Given the description of an element on the screen output the (x, y) to click on. 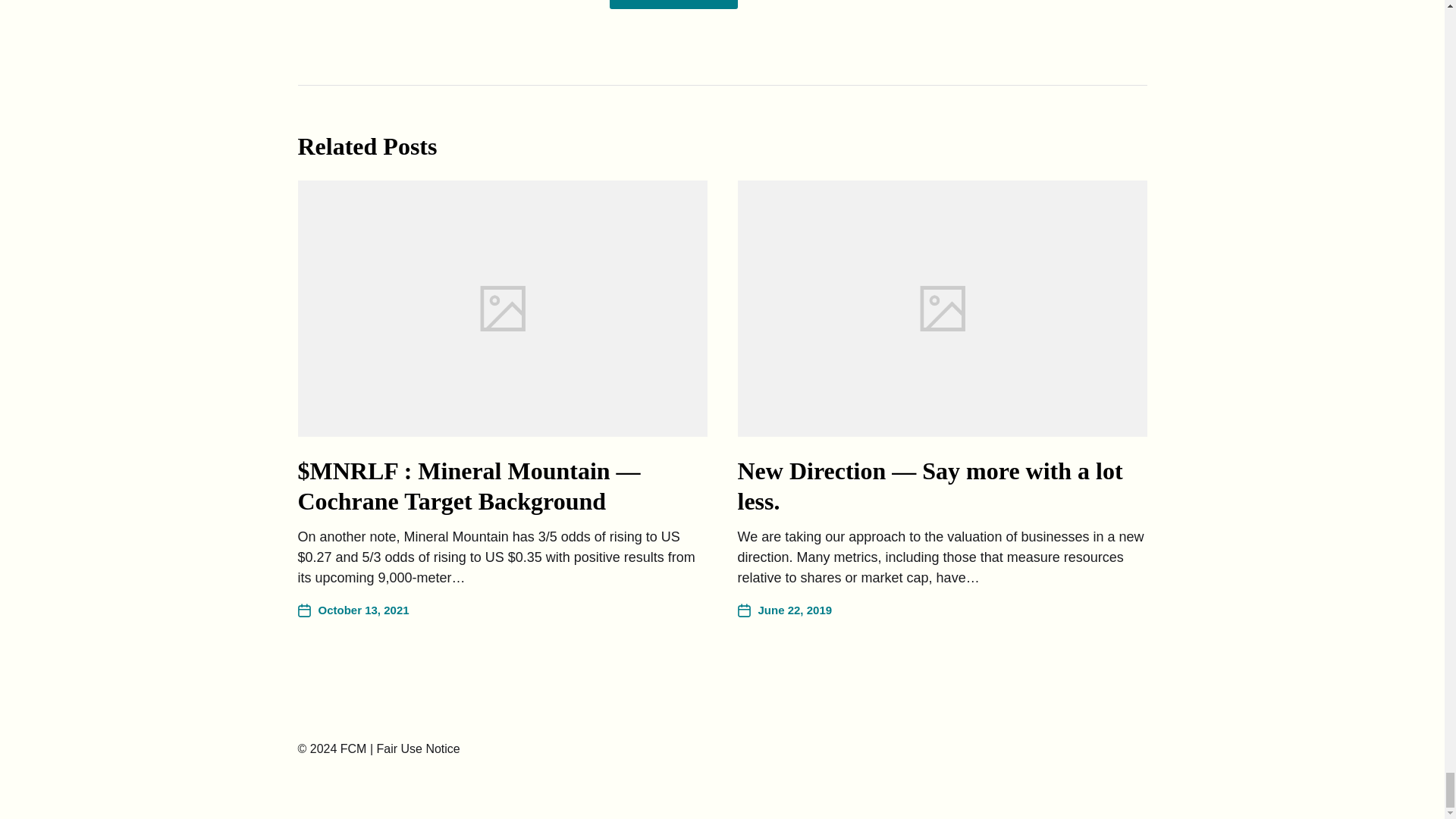
Fair Use Notice (417, 748)
FCM (353, 748)
Post Comment (674, 4)
October 13, 2021 (353, 610)
June 22, 2019 (783, 610)
Post Comment (674, 4)
